Given the description of an element on the screen output the (x, y) to click on. 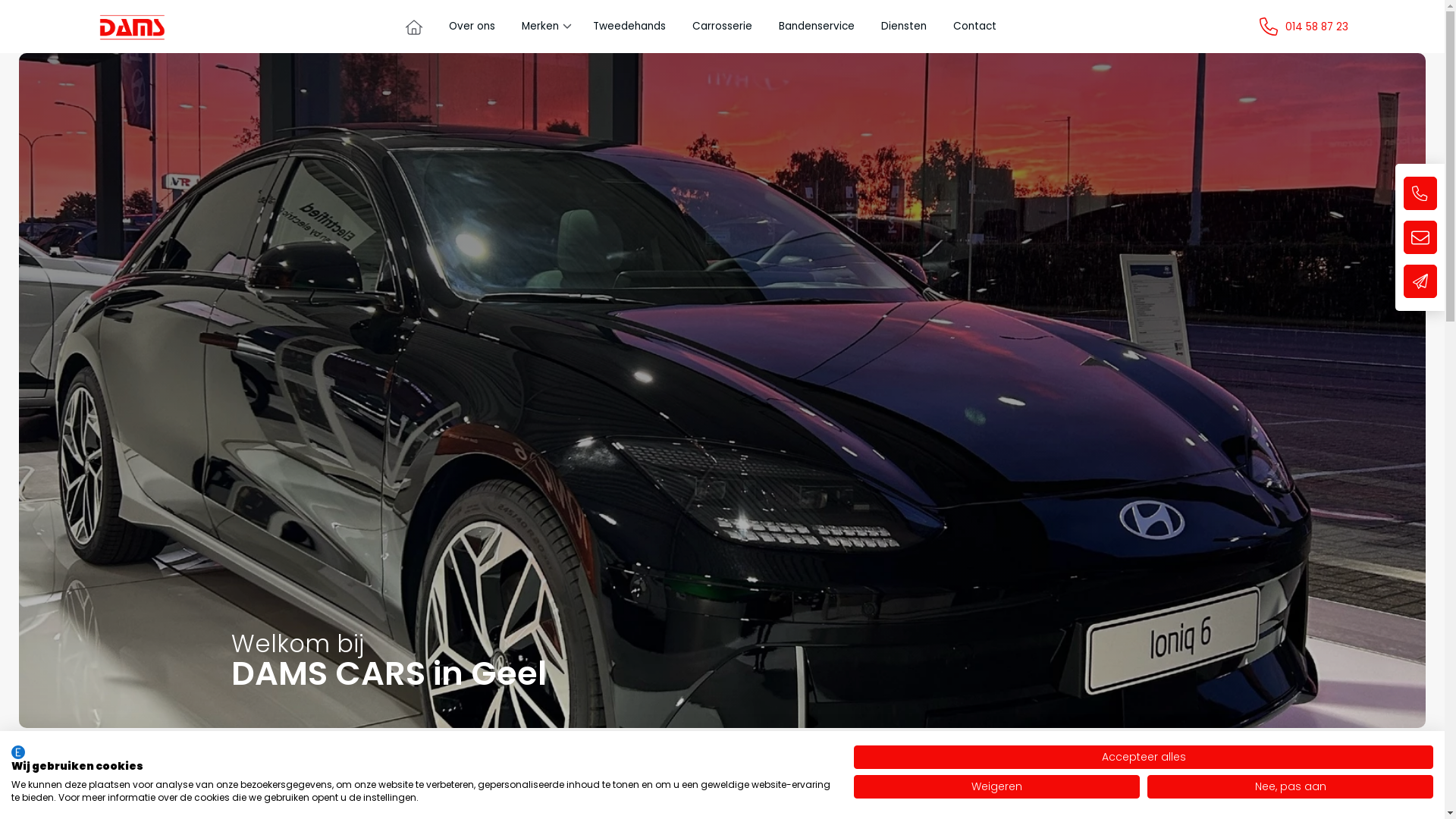
Accepteer alles Element type: text (1143, 756)
Bandenservice Element type: text (815, 26)
Over ons Element type: text (471, 26)
Merken Element type: text (539, 26)
Nee, pas aan Element type: text (1290, 786)
Contact Element type: text (973, 26)
Tweedehands Element type: text (629, 26)
Carrosserie Element type: text (721, 26)
Homepage Element type: hover (132, 26)
Diensten Element type: text (903, 26)
Weigeren Element type: text (996, 786)
014 58 87 23 Element type: text (1316, 26)
